Given the description of an element on the screen output the (x, y) to click on. 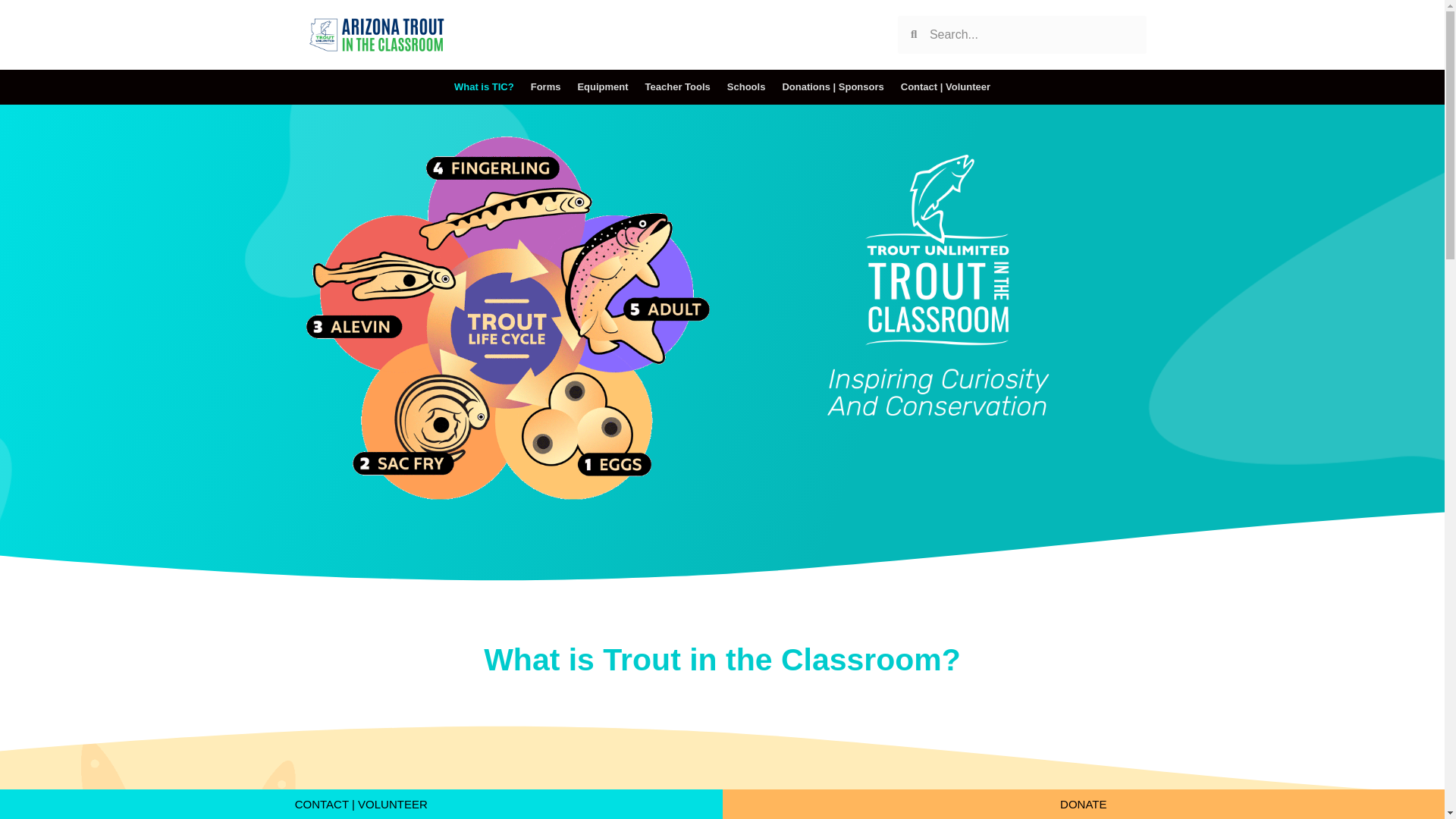
What is TIC? (483, 86)
Equipment (602, 86)
Forms (545, 86)
DONATE (1083, 804)
Schools (746, 86)
Teacher Tools (678, 86)
